Given the description of an element on the screen output the (x, y) to click on. 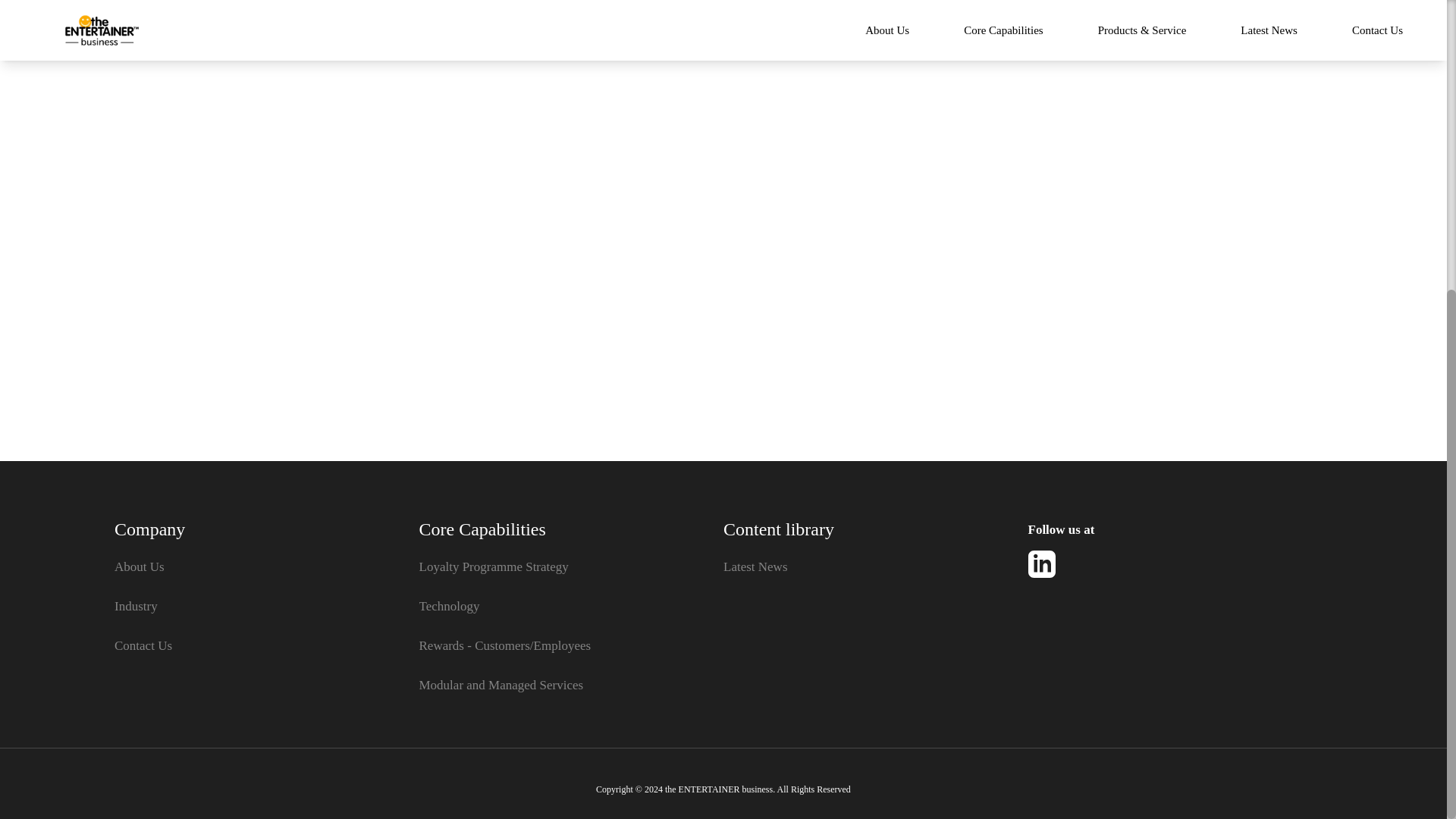
Technology (571, 606)
Contact Us (267, 645)
Latest News (875, 567)
Modular and Managed Services (571, 685)
Industry (267, 606)
Loyalty Programme Strategy (571, 567)
About Us (267, 567)
